Given the description of an element on the screen output the (x, y) to click on. 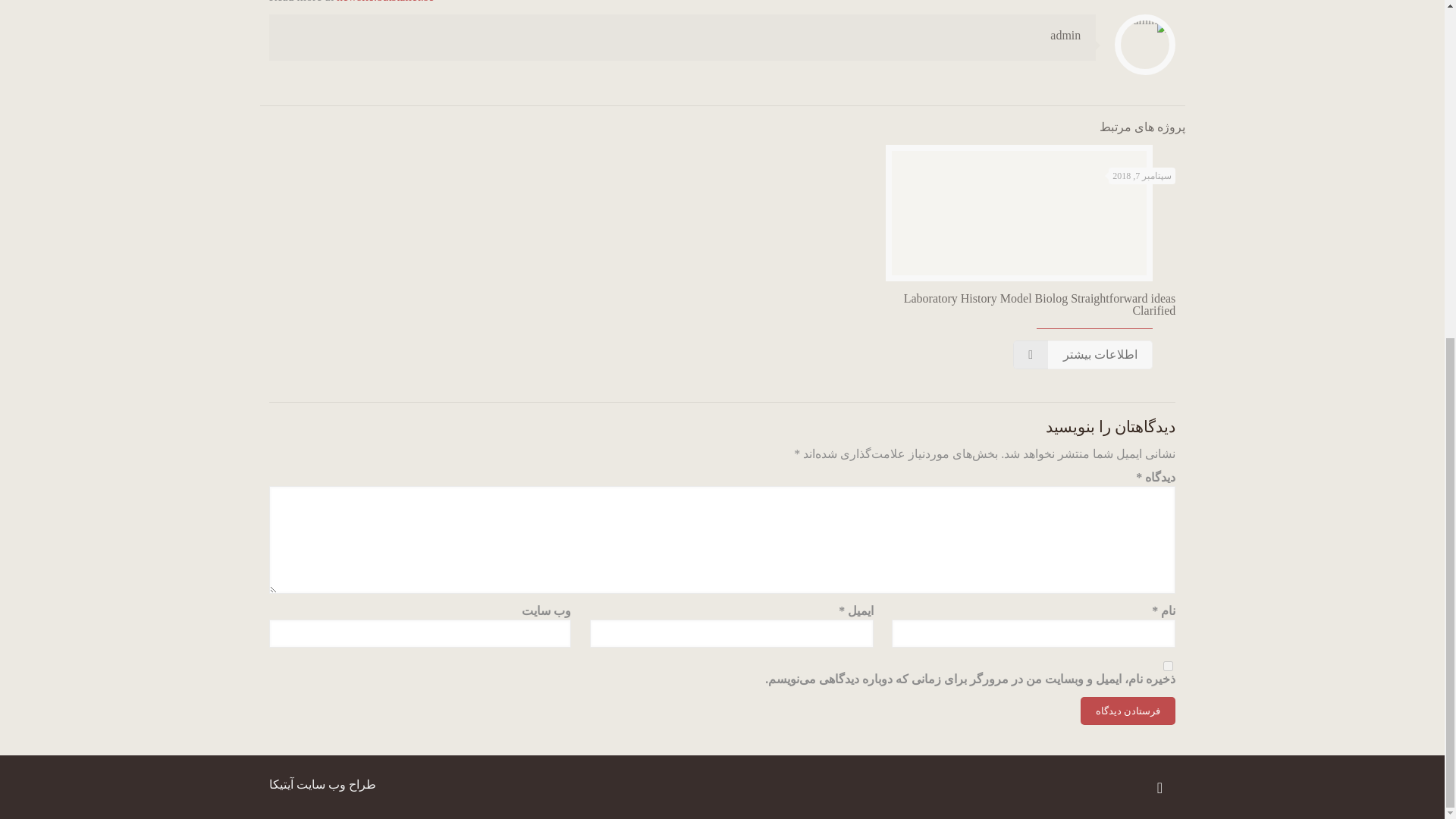
admin (1064, 34)
newsite.batstallet.se (384, 1)
yes (1168, 665)
